Given the description of an element on the screen output the (x, y) to click on. 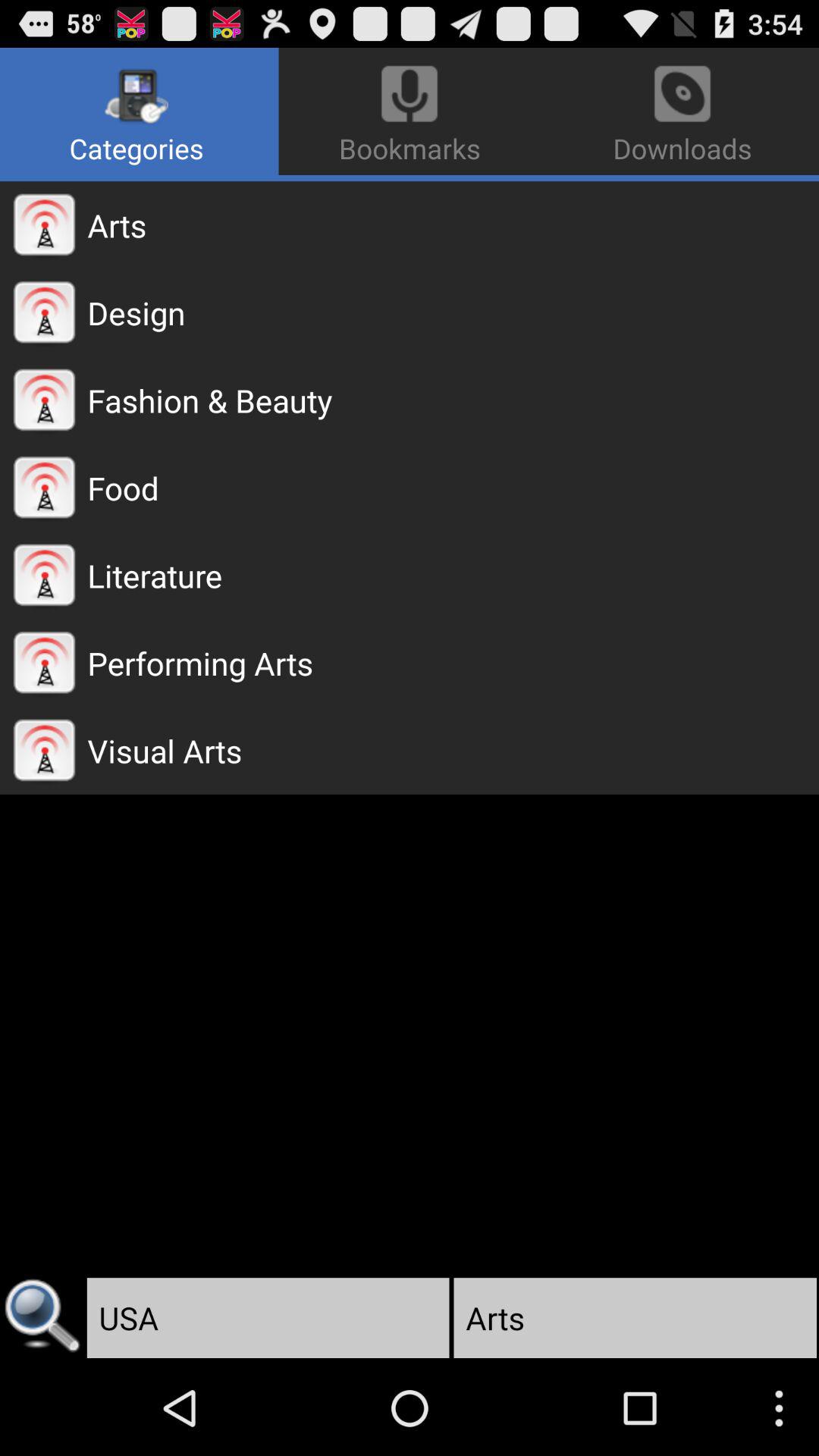
swipe until the fashion & beauty app (453, 400)
